Given the description of an element on the screen output the (x, y) to click on. 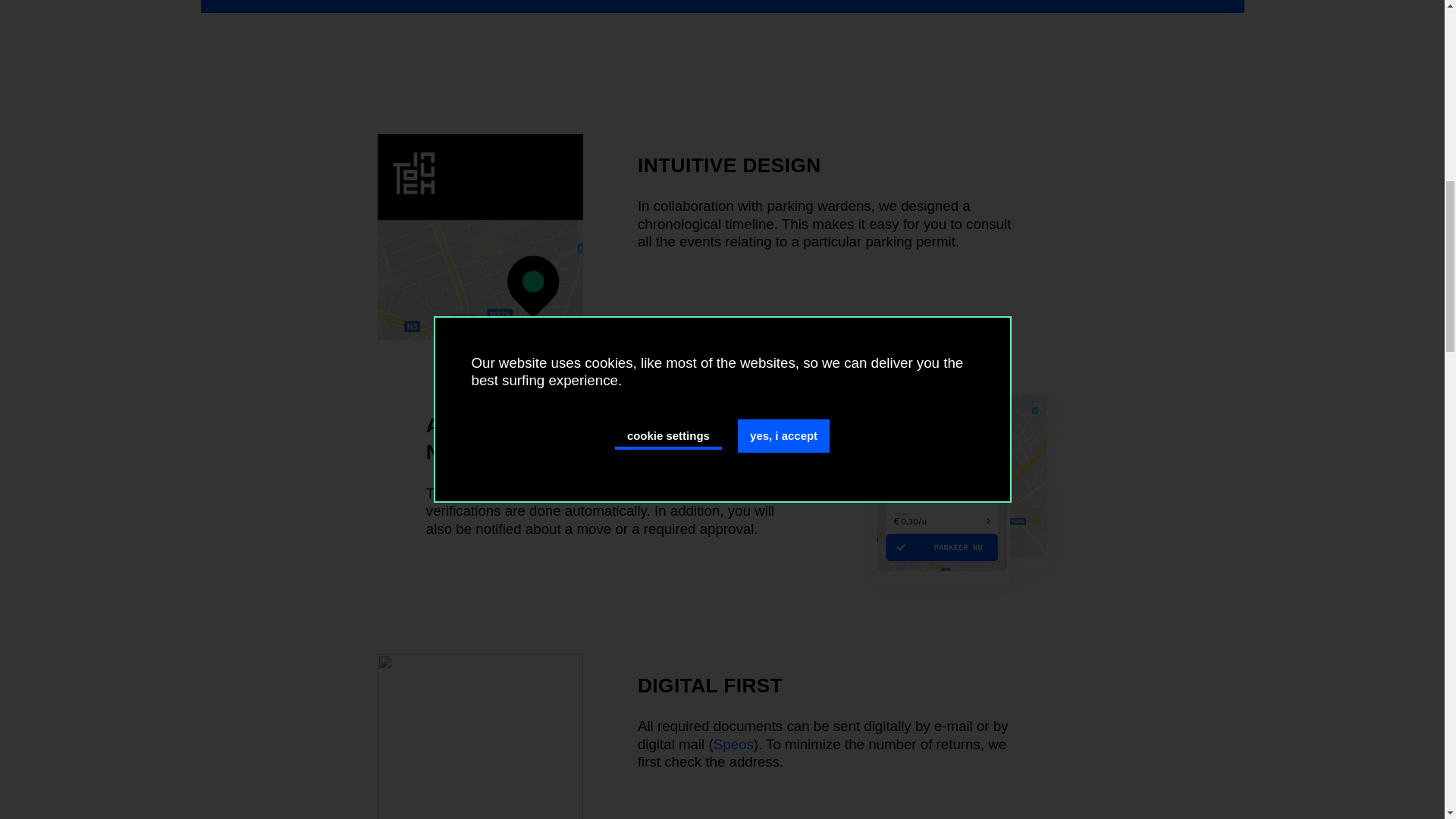
Save my preferences (940, 639)
accept all cookies (722, 269)
Save my preferences (940, 639)
Speos (733, 744)
go back (468, 639)
